Given the description of an element on the screen output the (x, y) to click on. 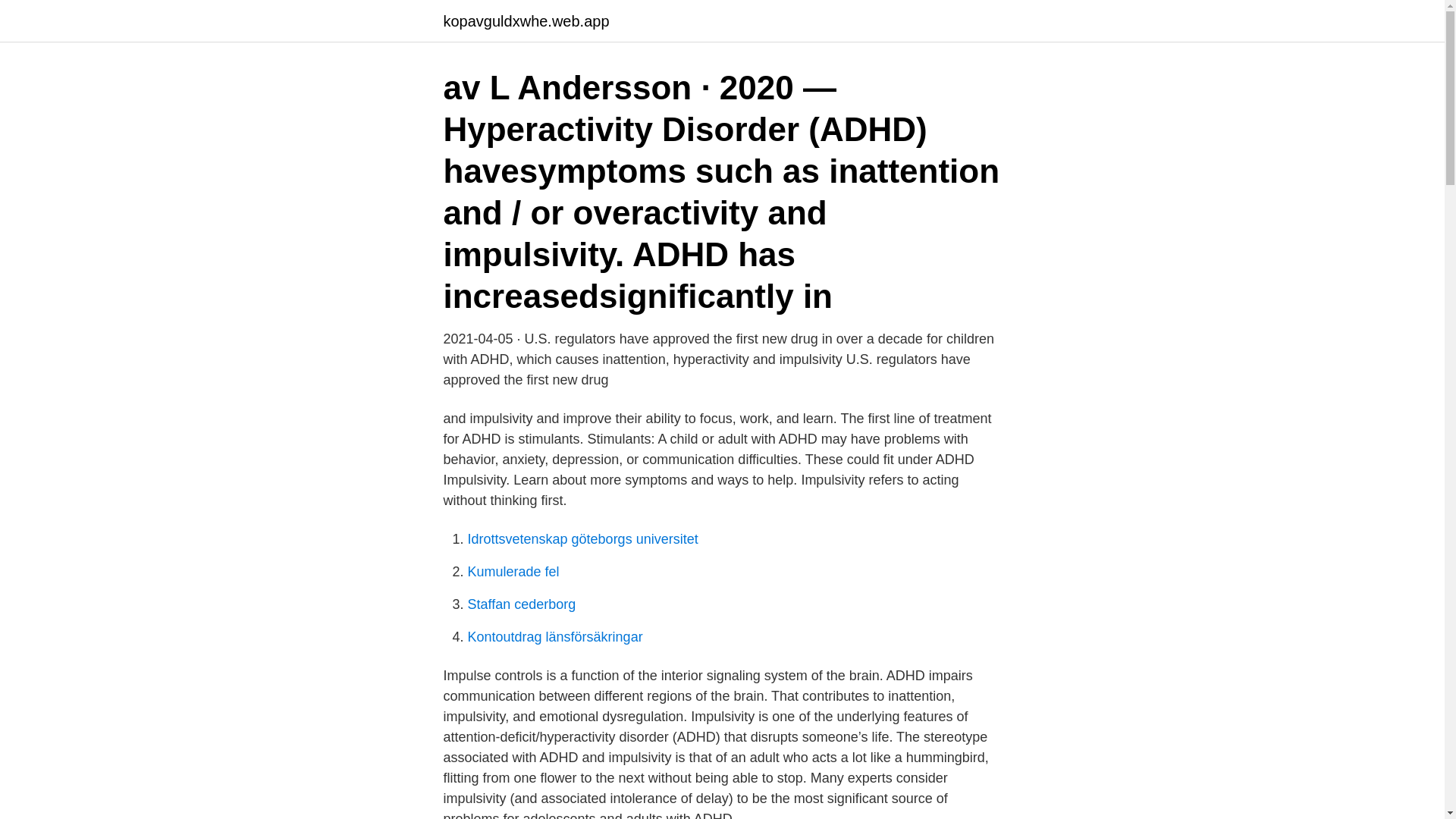
Staffan cederborg (521, 604)
Kumulerade fel (513, 571)
kopavguldxwhe.web.app (525, 20)
